Given the description of an element on the screen output the (x, y) to click on. 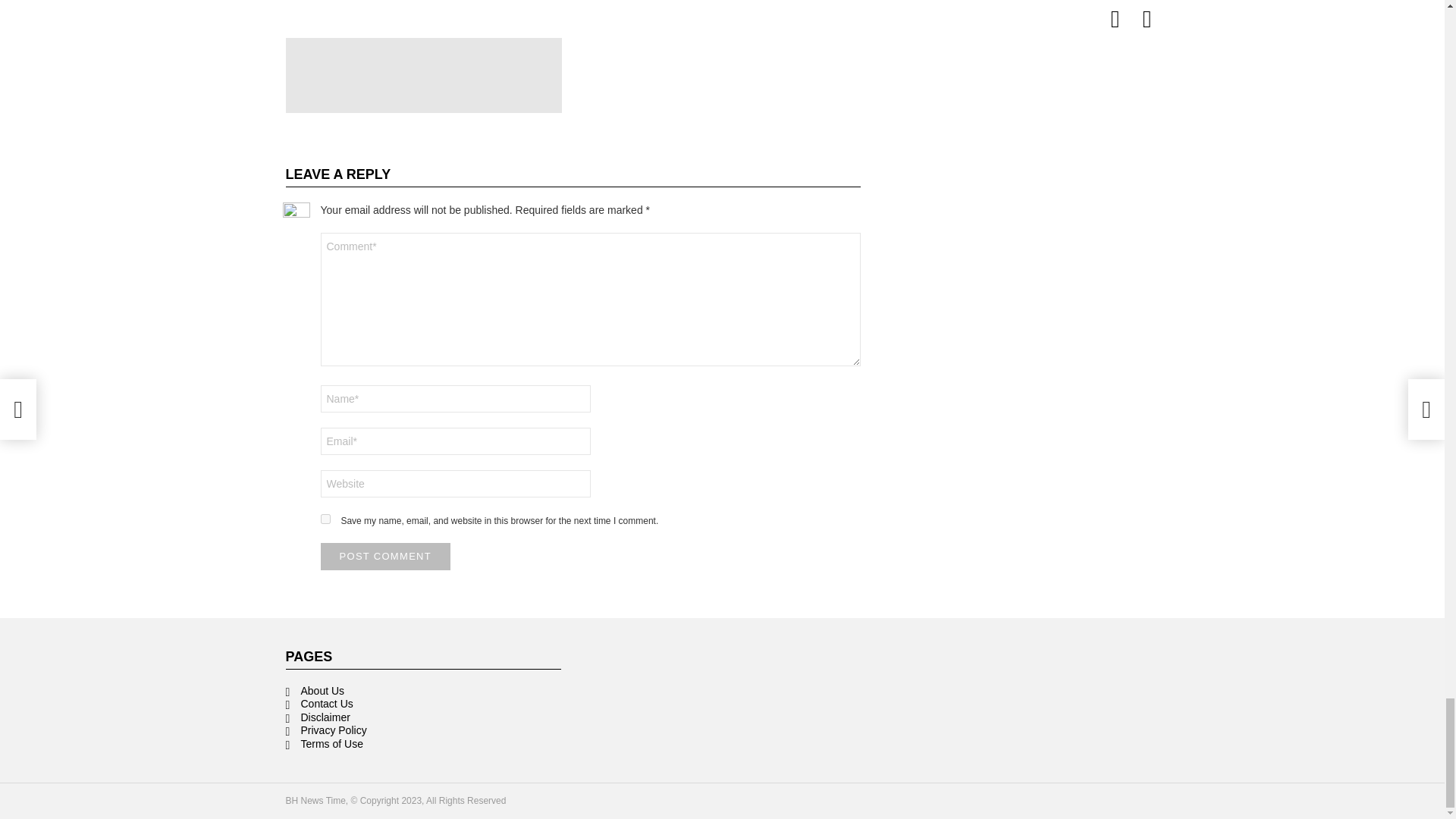
Post Comment (384, 556)
yes (325, 519)
